Given the description of an element on the screen output the (x, y) to click on. 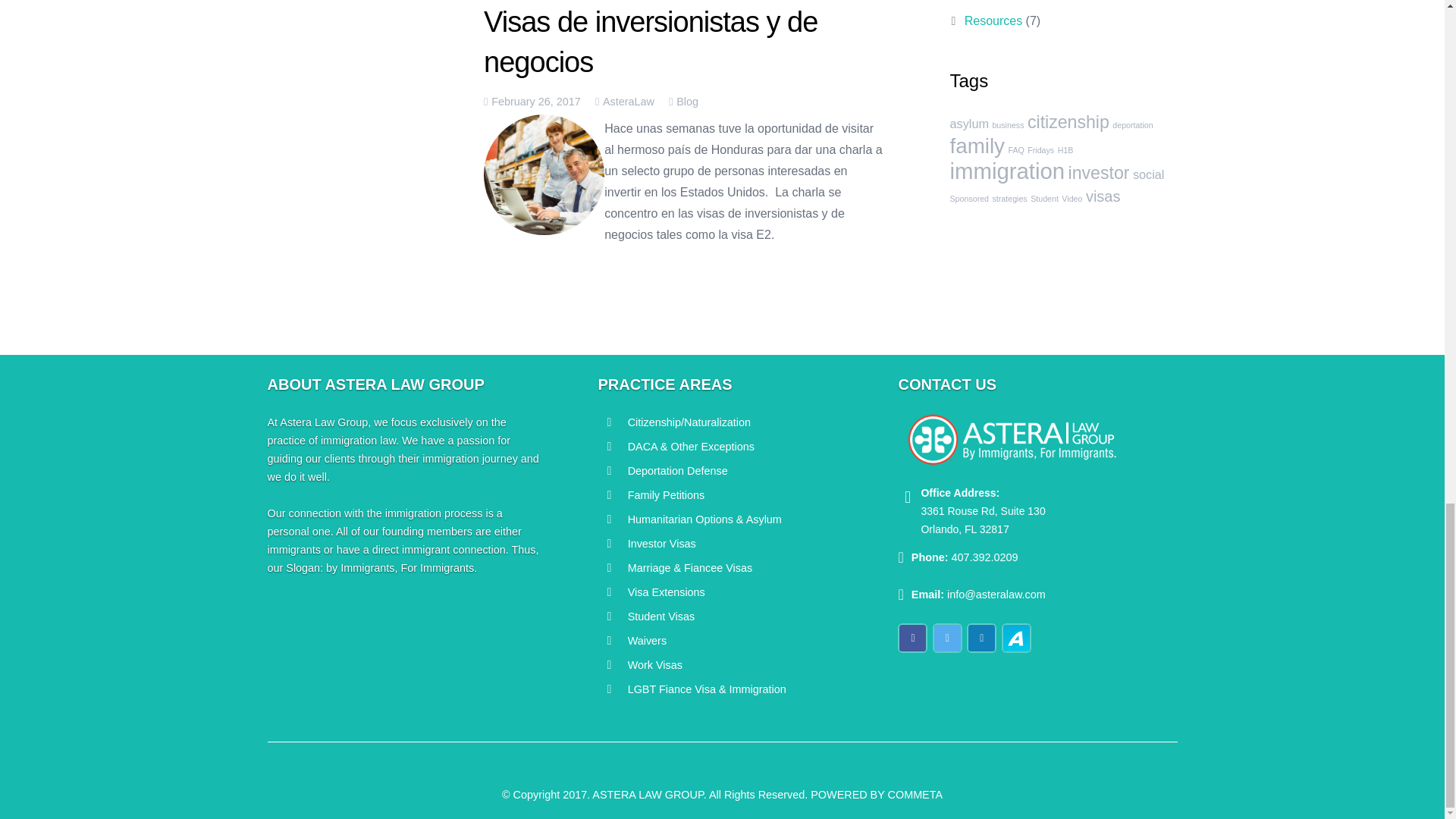
Visas de inversionistas y de negocios (649, 41)
AsteraLaw (627, 101)
